Given the description of an element on the screen output the (x, y) to click on. 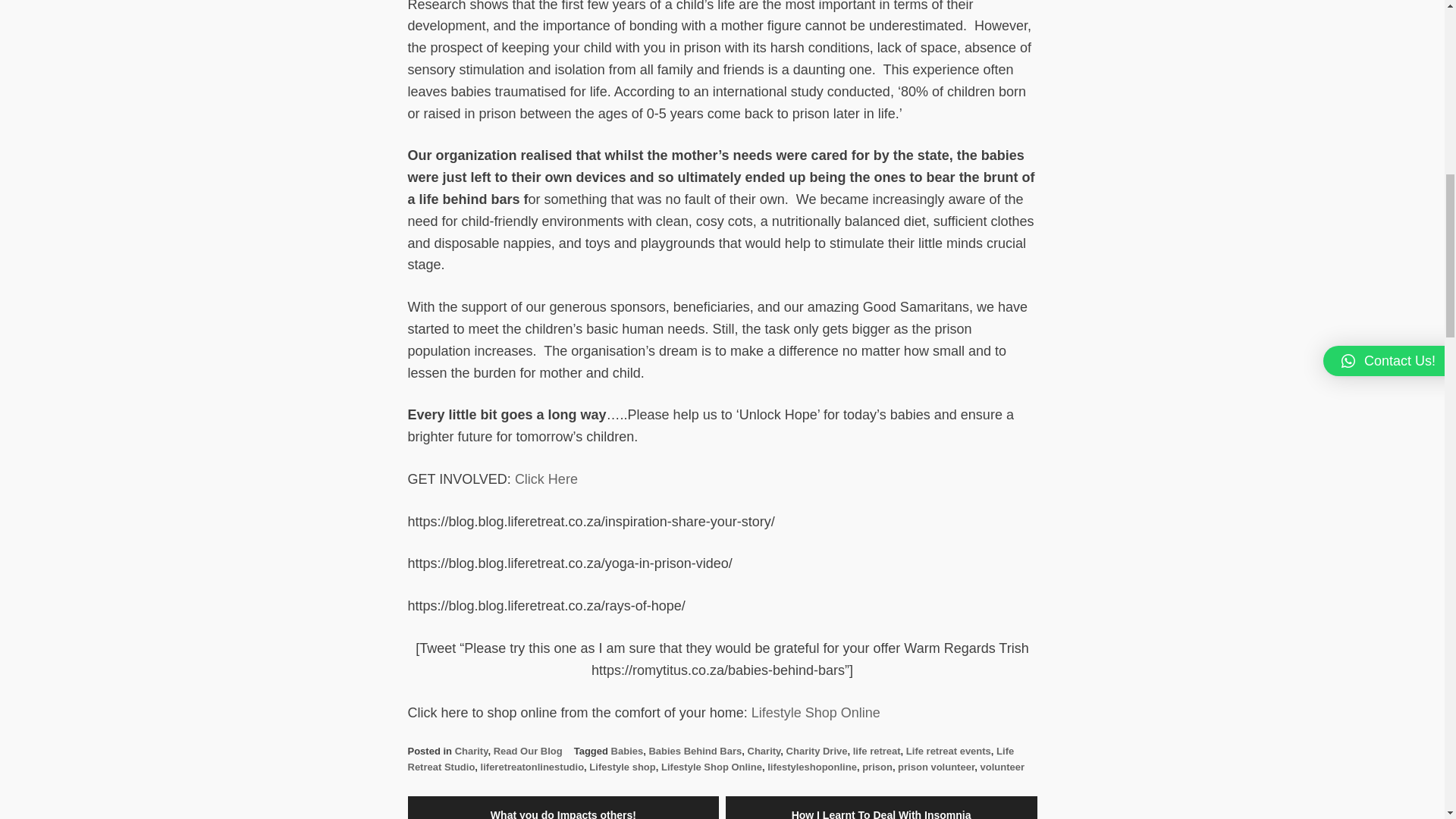
Lifestyle Shop Online (815, 712)
Click Here (546, 478)
